Given the description of an element on the screen output the (x, y) to click on. 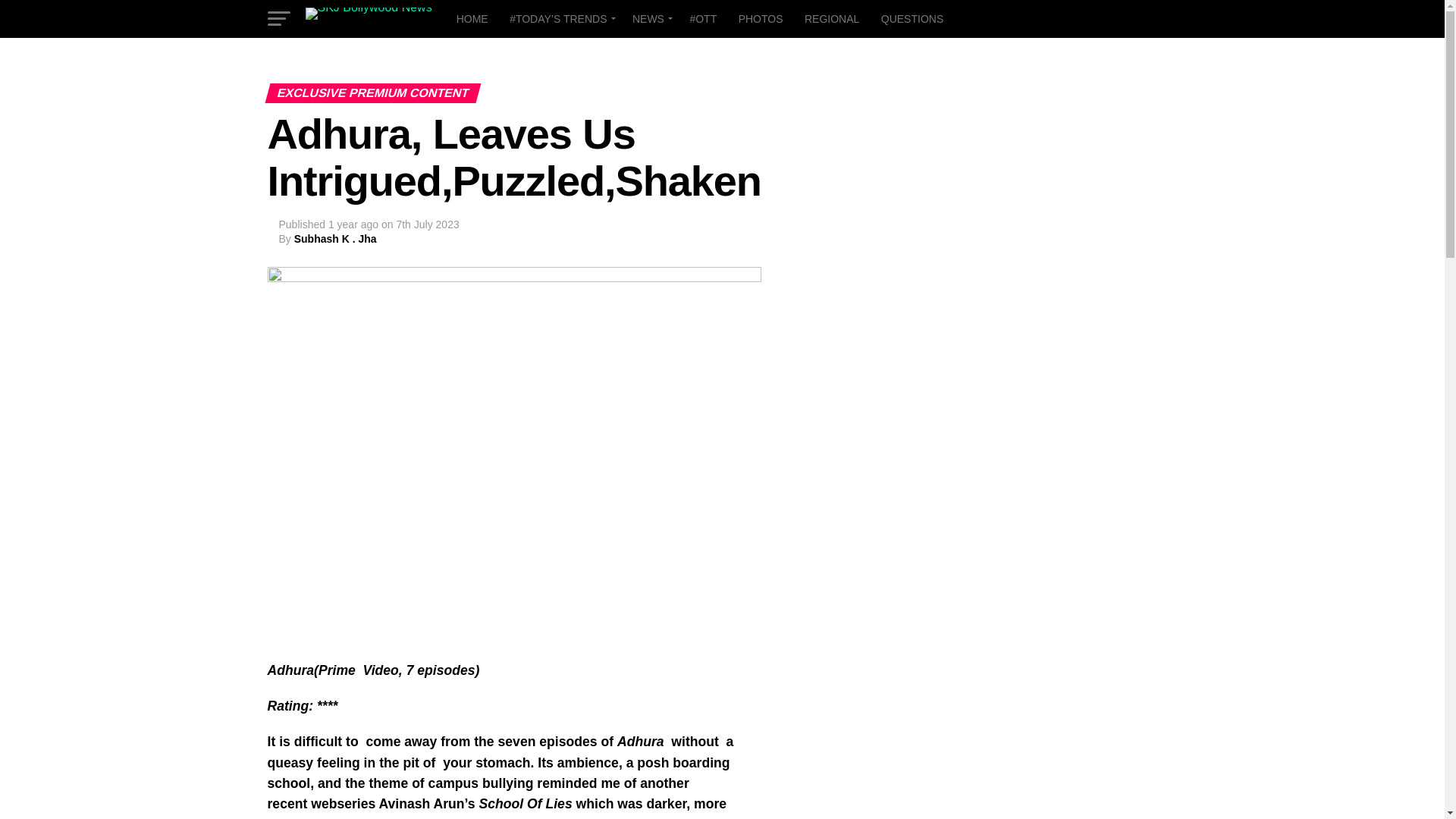
HOME (471, 18)
NEWS (650, 18)
PHOTOS (760, 18)
